Given the description of an element on the screen output the (x, y) to click on. 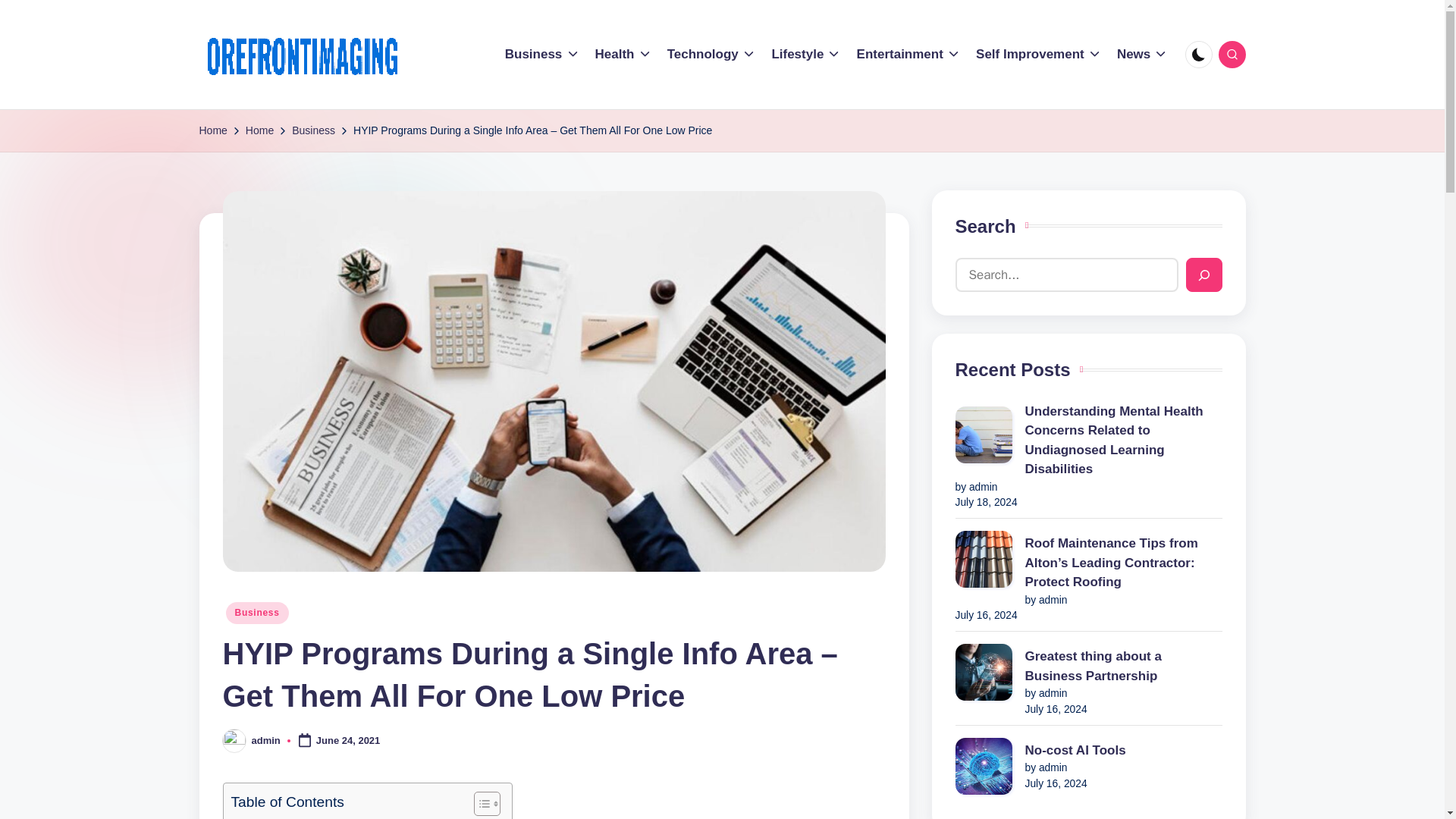
View all posts by admin (266, 740)
Technology (710, 54)
Business (542, 54)
Lifestyle (806, 54)
Entertainment (908, 54)
Health (623, 54)
